Given the description of an element on the screen output the (x, y) to click on. 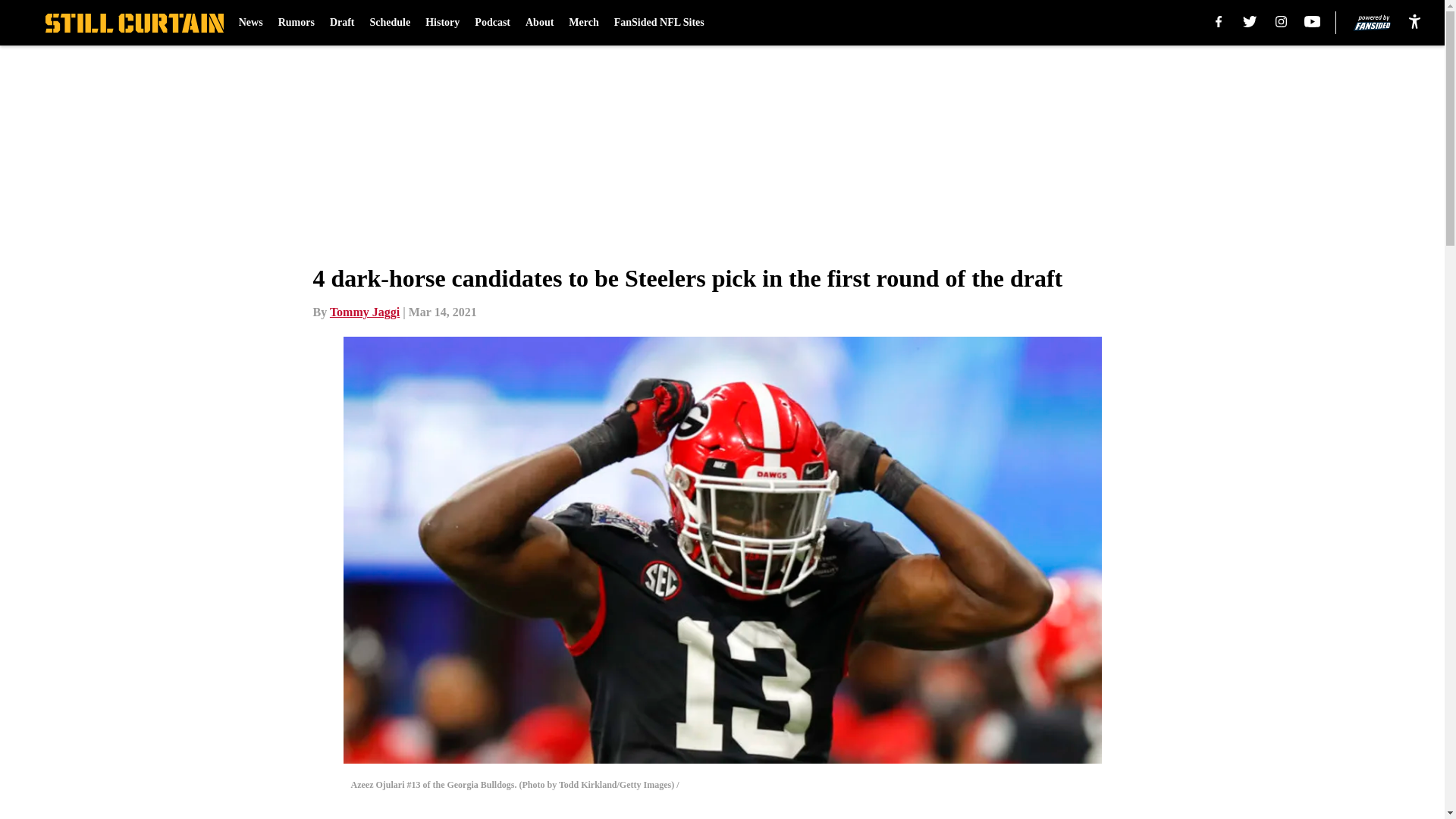
Draft (342, 22)
About (539, 22)
Tommy Jaggi (364, 311)
FanSided NFL Sites (659, 22)
Merch (583, 22)
News (250, 22)
Podcast (492, 22)
History (442, 22)
Schedule (389, 22)
Rumors (296, 22)
